Given the description of an element on the screen output the (x, y) to click on. 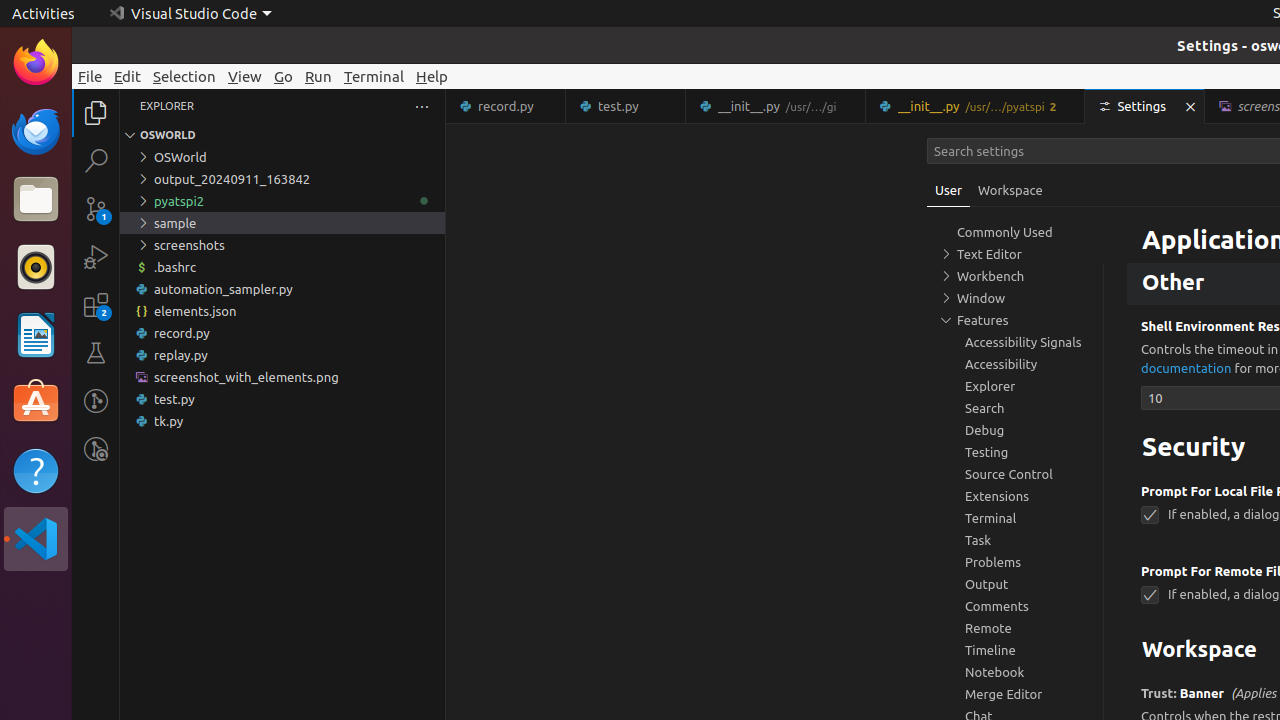
automation_sampler.py Element type: tree-item (282, 289)
Terminal Element type: push-button (374, 76)
security.promptForLocalFileProtocolHandling Element type: check-box (1150, 515)
Settings Element type: page-tab (1145, 106)
Go Element type: push-button (283, 76)
